Given the description of an element on the screen output the (x, y) to click on. 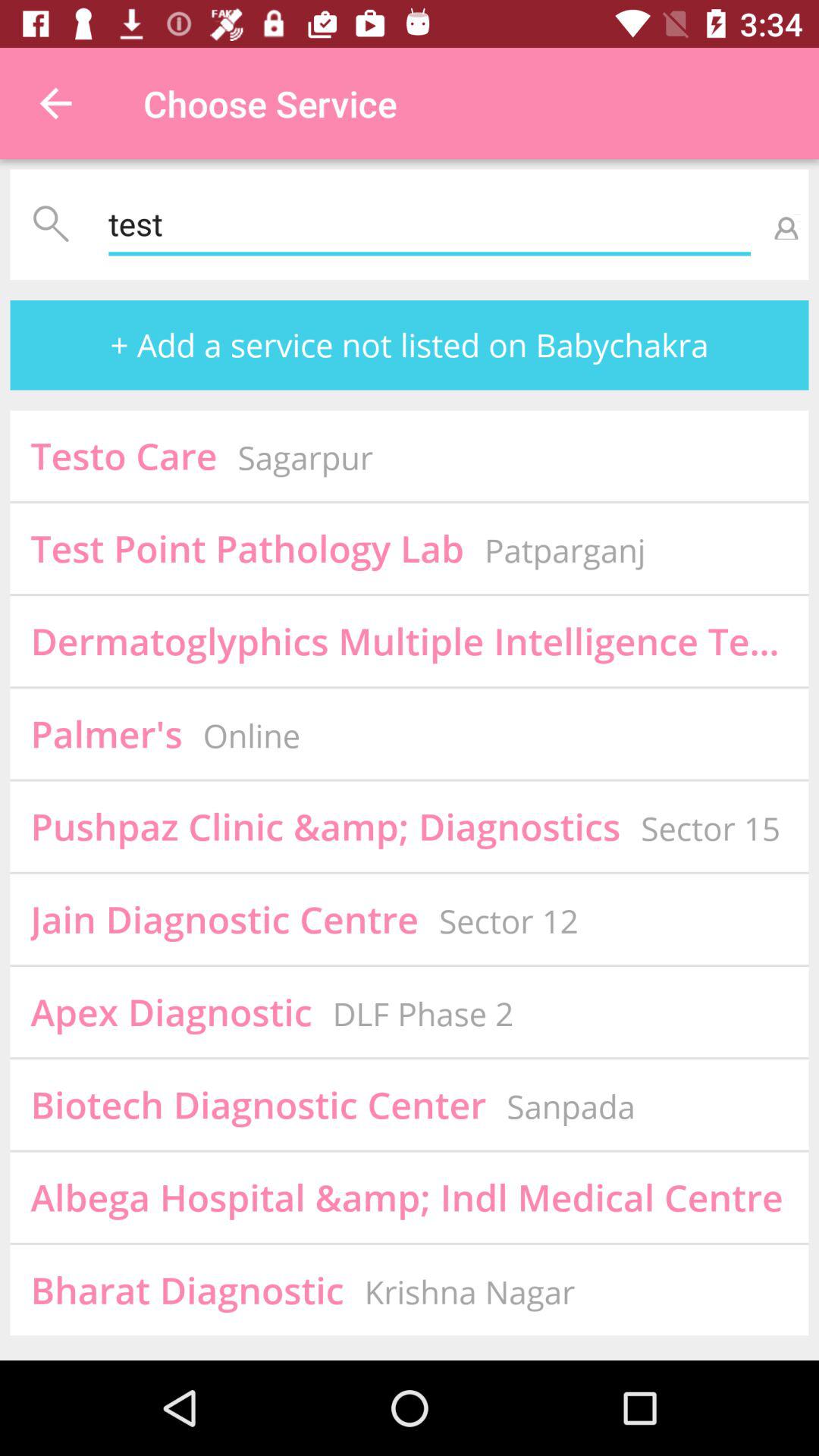
swipe to the apex diagnostic (171, 1012)
